Given the description of an element on the screen output the (x, y) to click on. 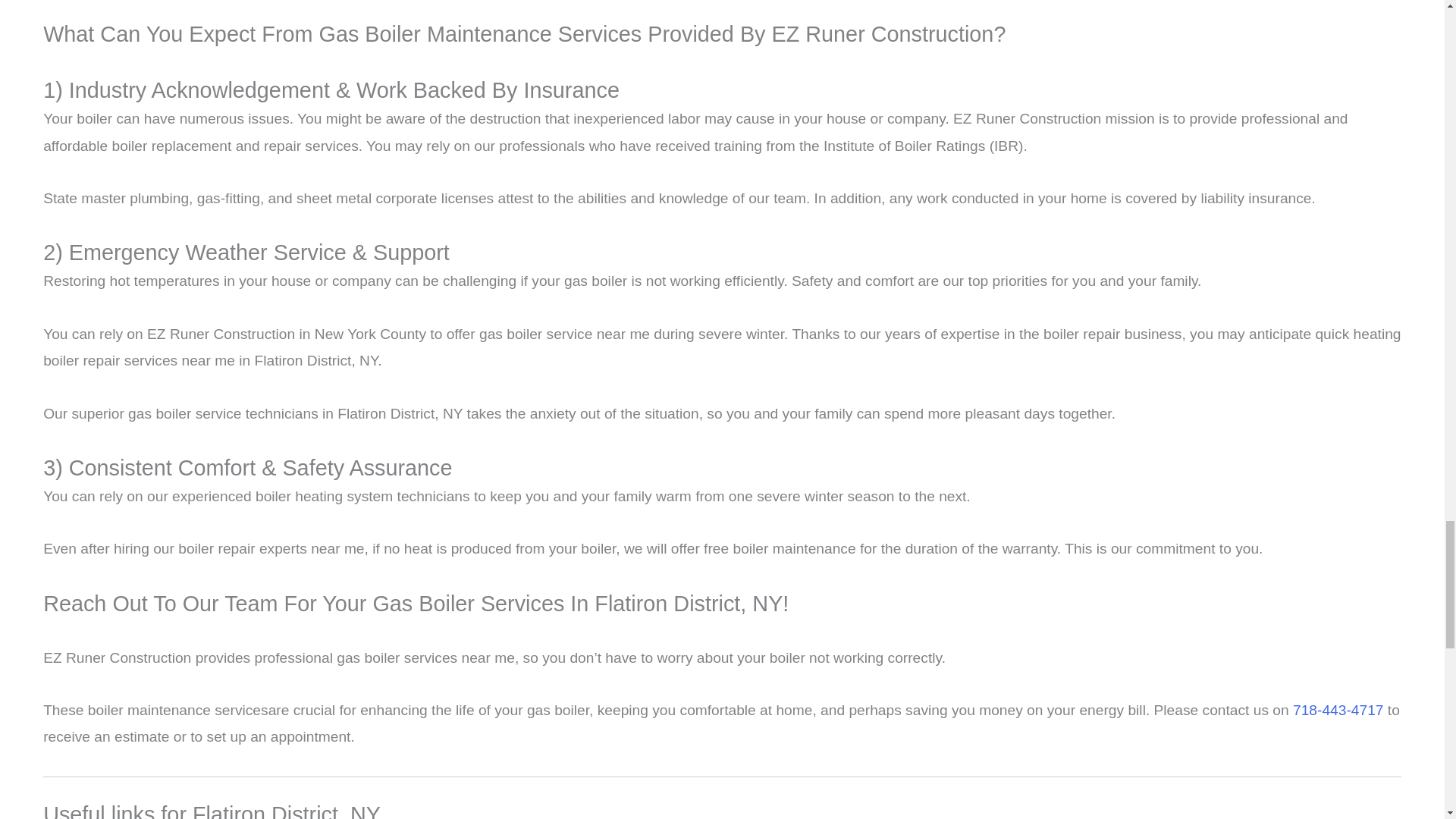
718-443-4717 (1338, 709)
